Given the description of an element on the screen output the (x, y) to click on. 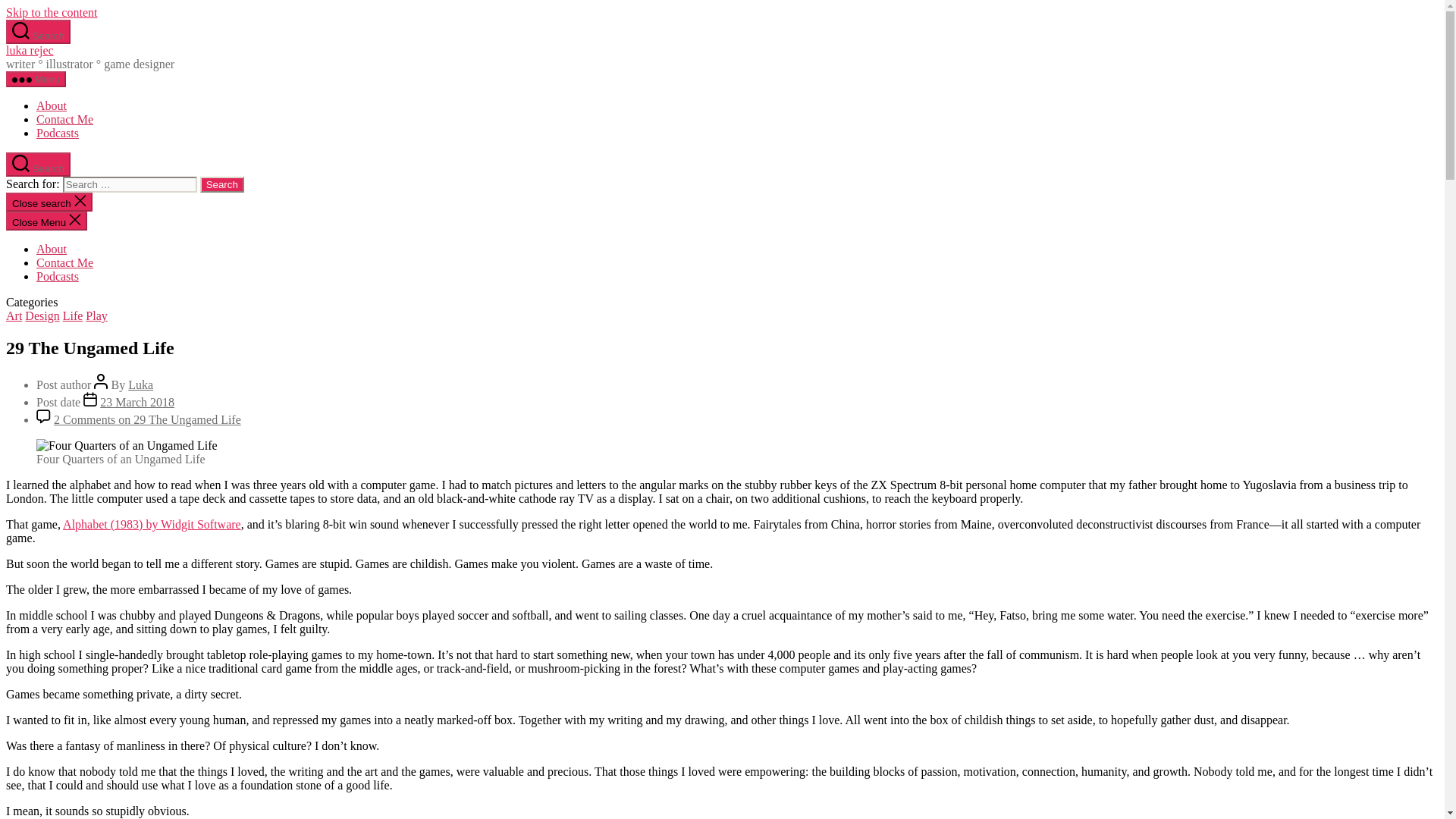
Close search (49, 201)
Contact Me (64, 262)
Contact Me (64, 119)
2 Comments on 29 The Ungamed Life (147, 419)
Design (41, 315)
Podcasts (57, 132)
Podcasts (57, 276)
Search (222, 184)
Menu (35, 78)
Search (222, 184)
